Given the description of an element on the screen output the (x, y) to click on. 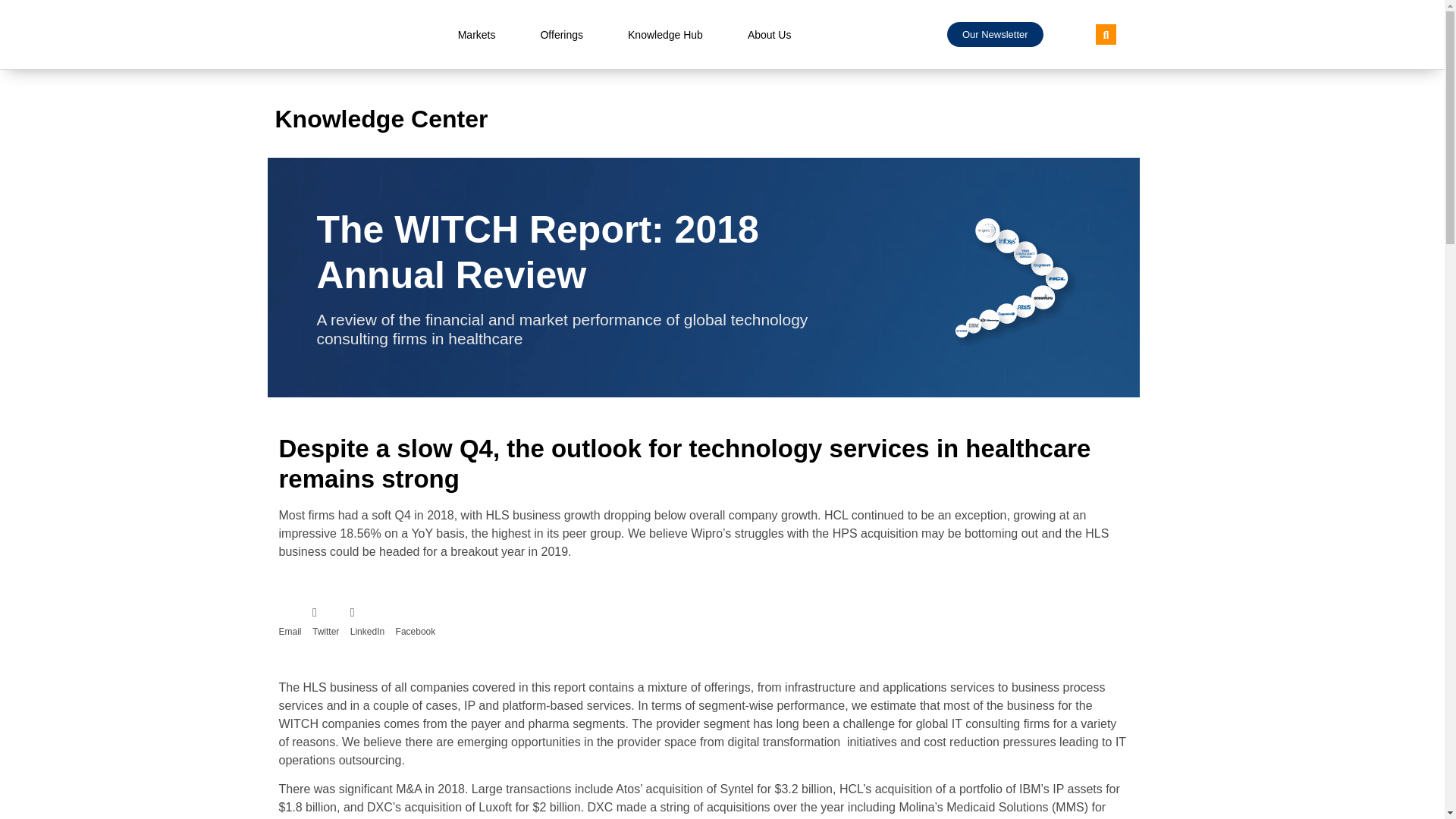
About Us (769, 34)
Offerings (561, 34)
Knowledge Hub (664, 34)
Our Newsletter (995, 34)
cropped damo logo 2022 11.png (354, 34)
Markets (476, 34)
